Given the description of an element on the screen output the (x, y) to click on. 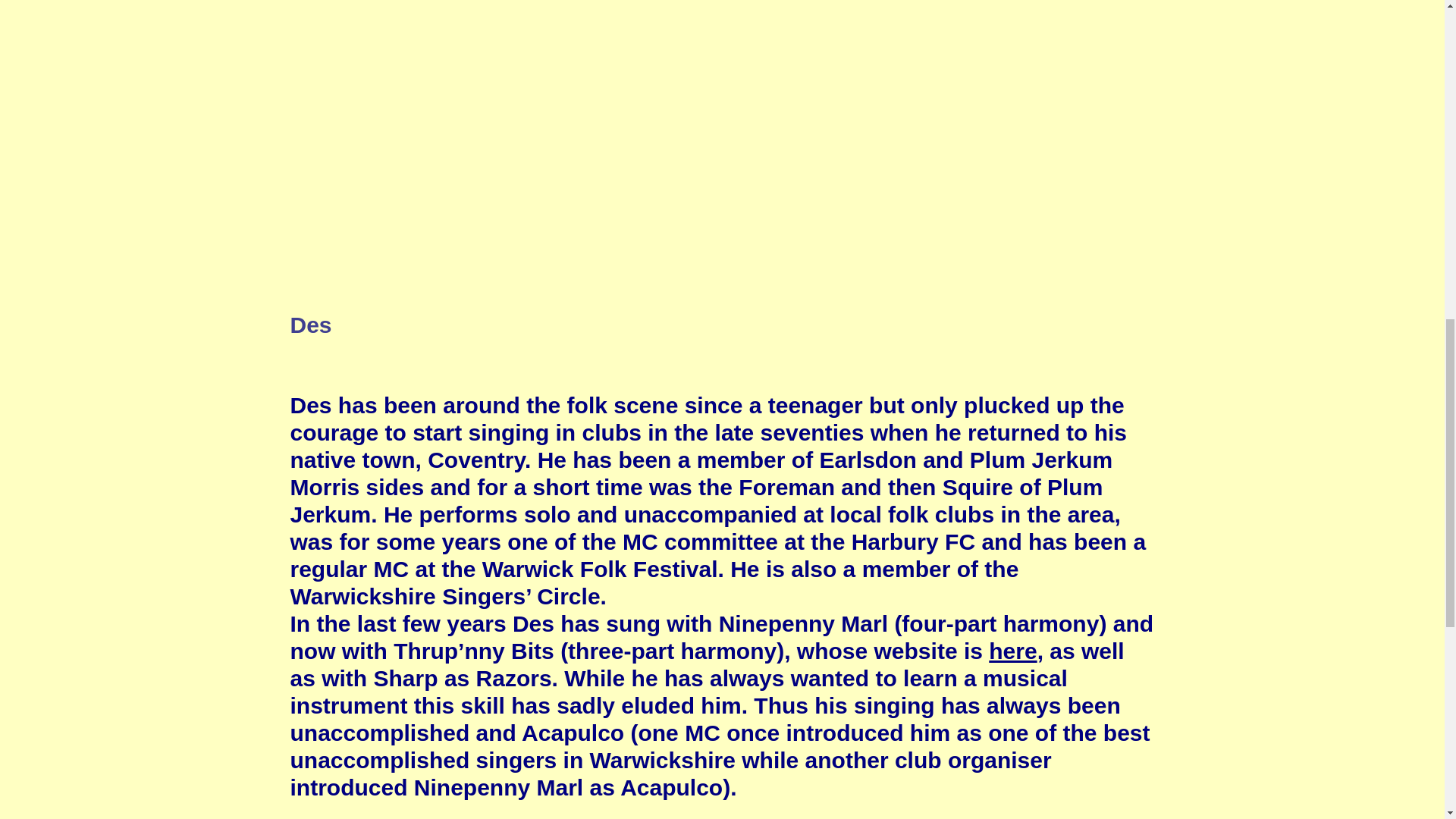
here (1012, 650)
